Given the description of an element on the screen output the (x, y) to click on. 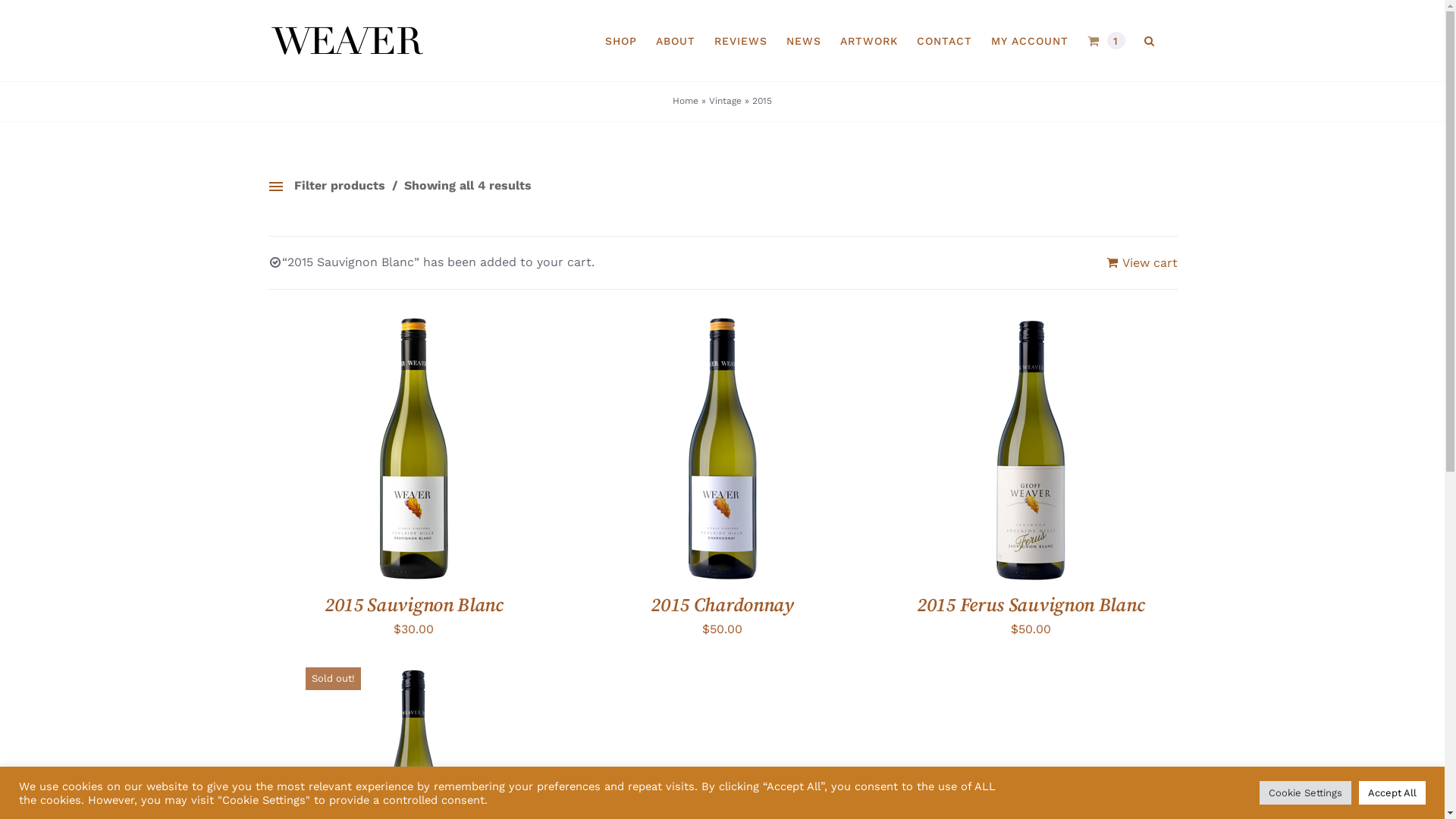
ABOUT Element type: text (674, 40)
Accept All Element type: text (1391, 792)
MY ACCOUNT Element type: text (1028, 40)
2015 Sauvignon Blanc Element type: text (413, 605)
Search Element type: hover (1148, 40)
NEWS Element type: text (802, 40)
Cookie Settings Element type: text (1305, 792)
Home Element type: text (685, 100)
CONTACT Element type: text (943, 40)
1 Element type: text (1106, 40)
REVIEWS Element type: text (740, 40)
SHOP Element type: text (621, 40)
2015 Ferus Sauvignon Blanc Element type: text (1030, 605)
ARTWORK Element type: text (868, 40)
Log In Element type: text (1087, 221)
View cart Element type: text (1140, 262)
Vintage Element type: text (725, 100)
2015 Chardonnay Element type: text (721, 605)
